Given the description of an element on the screen output the (x, y) to click on. 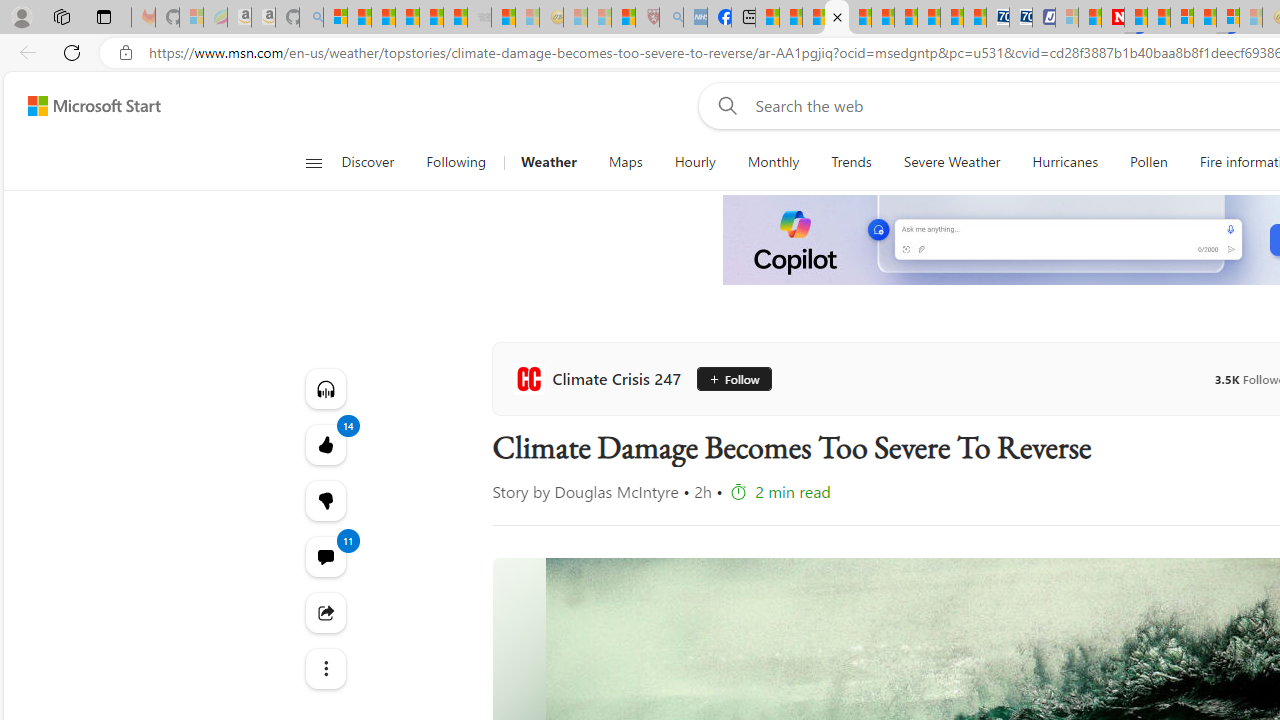
Trends (850, 162)
Monthly (773, 162)
14 (324, 500)
Hurricanes (1065, 162)
Share this story (324, 612)
Pollen (1148, 162)
Local - MSN (622, 17)
